Given the description of an element on the screen output the (x, y) to click on. 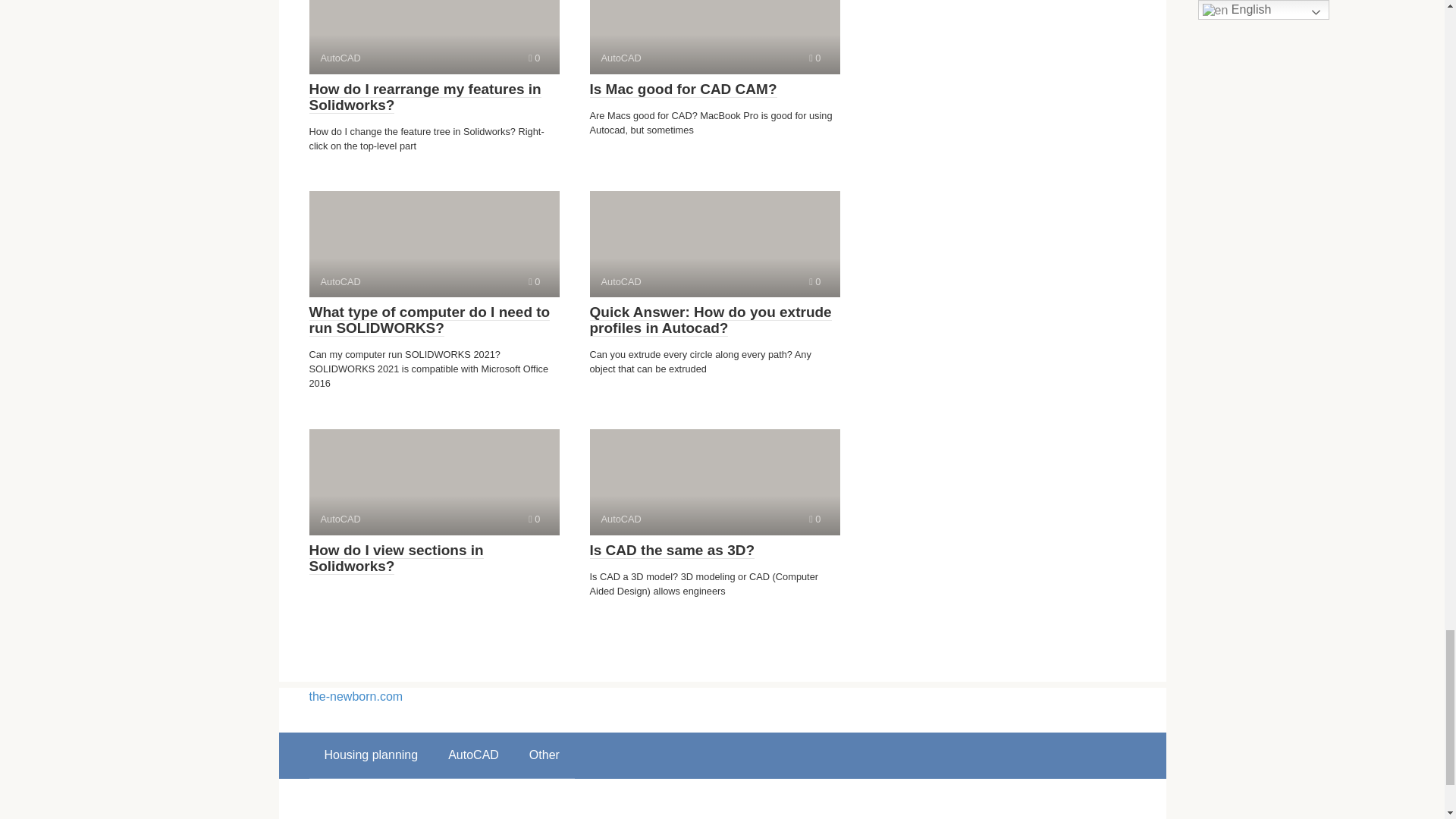
What type of computer do I need to run SOLIDWORKS? (433, 482)
Comments (429, 319)
Is CAD the same as 3D? (815, 281)
Quick Answer: How do you extrude profiles in Autocad? (672, 550)
Comments (710, 319)
Is Mac good for CAD CAM? (815, 518)
